Given the description of an element on the screen output the (x, y) to click on. 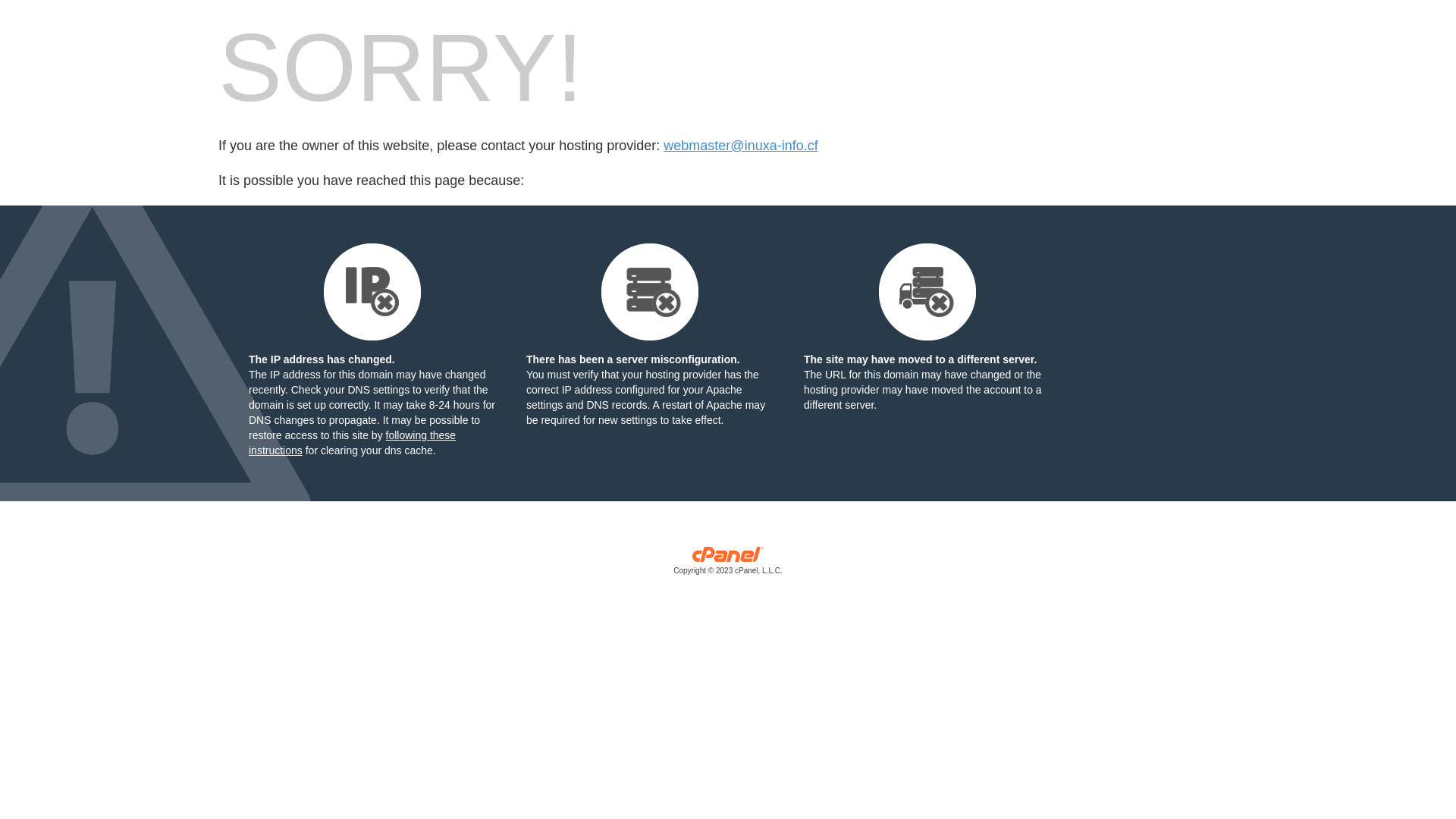
following these instructions Element type: text (351, 442)
webmaster@inuxa-info.cf Element type: text (740, 145)
